Given the description of an element on the screen output the (x, y) to click on. 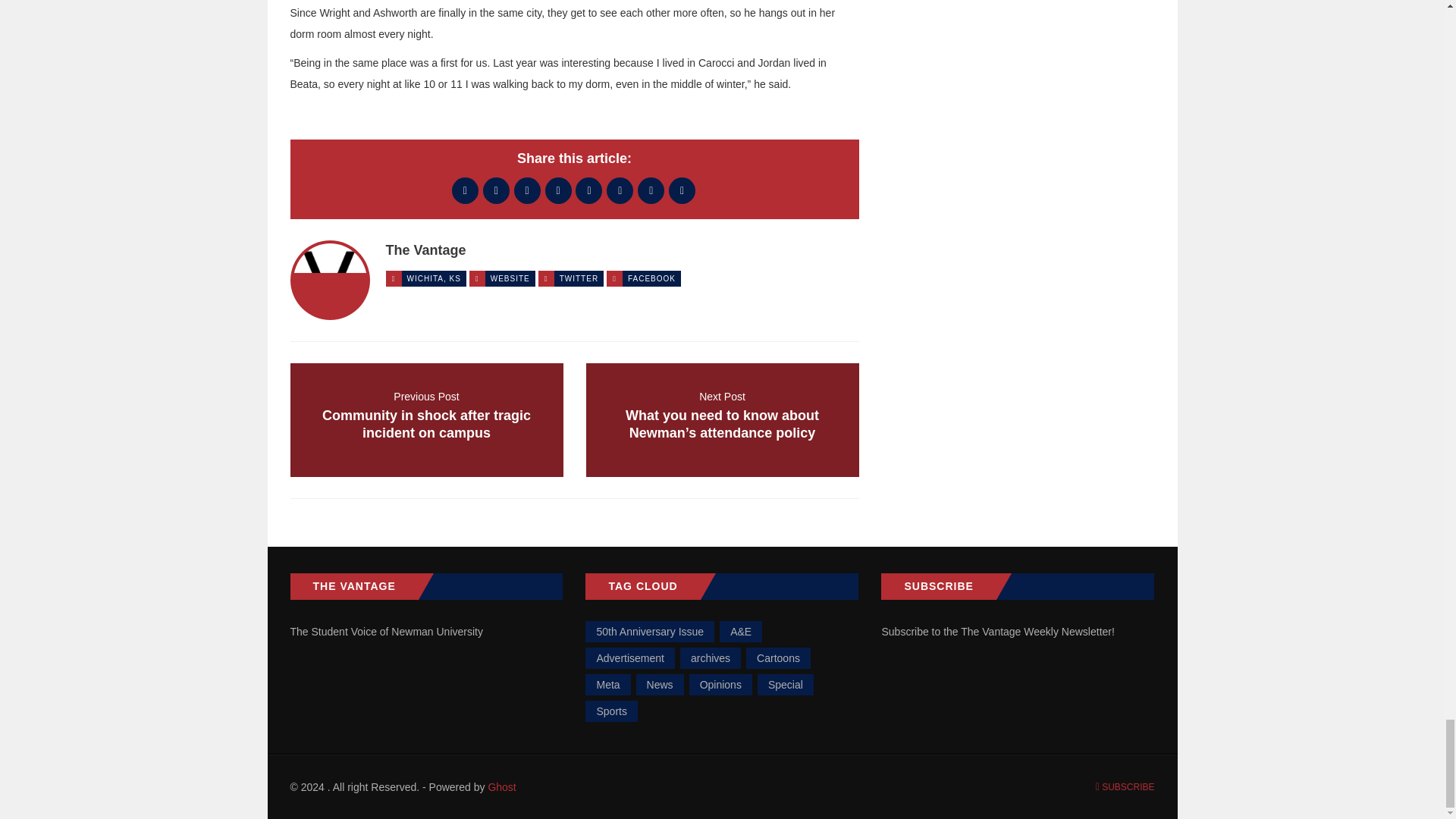
Google Plus (526, 190)
The Vantage (425, 249)
TWITTER (578, 278)
Reddit (588, 190)
Twitter (496, 190)
StumbleUpon (681, 190)
50th Anniversary Issue (649, 631)
Advertisement (629, 658)
WEBSITE (509, 278)
Facebook (465, 190)
